Given the description of an element on the screen output the (x, y) to click on. 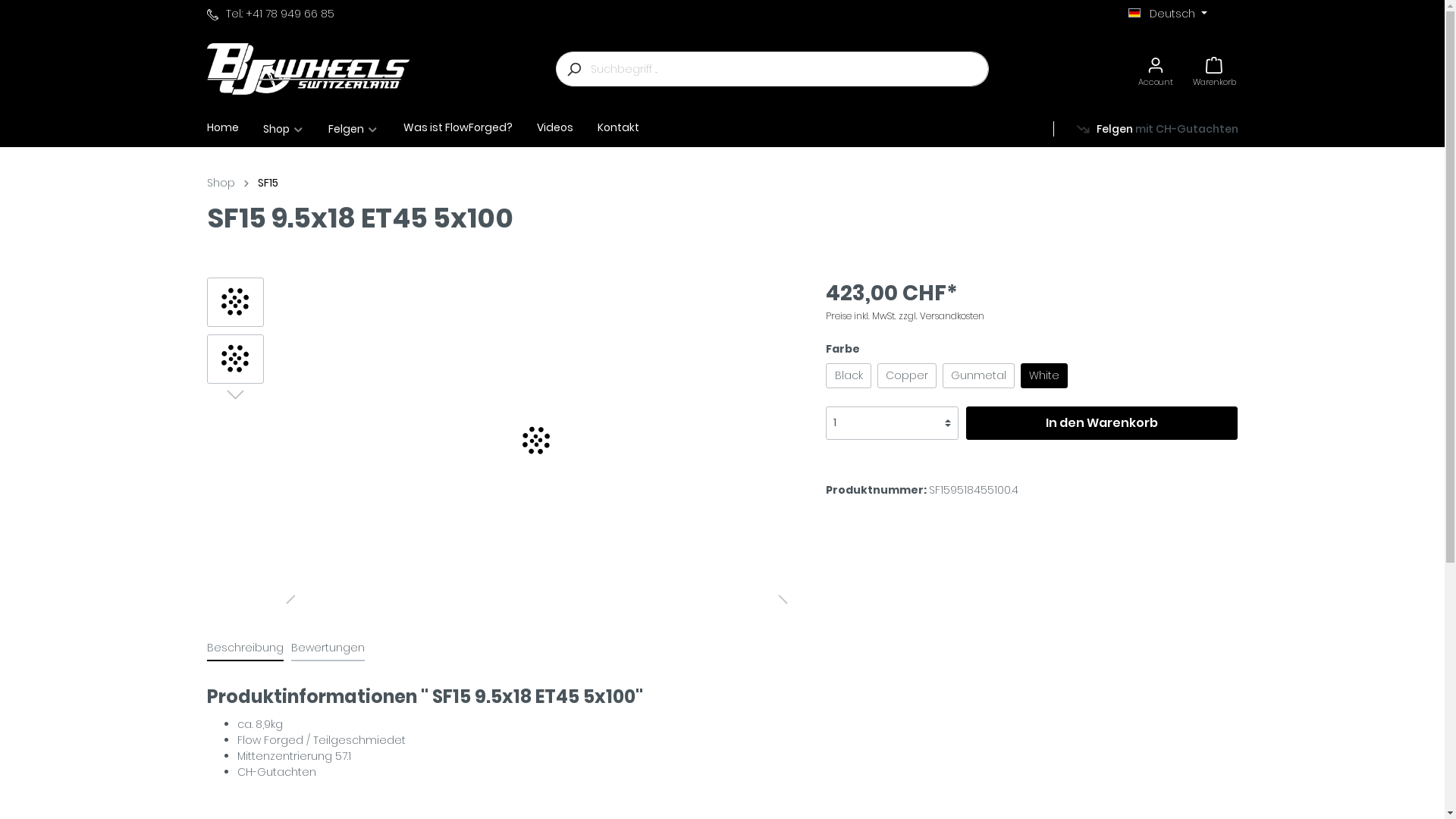
Was ist FlowForged? Element type: text (469, 127)
Account Element type: text (1155, 69)
In den Warenkorb Element type: text (1102, 422)
Kontakt Element type: text (630, 127)
 SF15 9.5x18 ET45 5x100 Element type: hover (235, 358)
Warenkorb Element type: text (1214, 69)
Home Element type: text (234, 128)
Tel.: +41 78 949 66 85 Element type: text (269, 13)
SF15 Element type: text (267, 183)
Shop Element type: text (220, 183)
Zur Startseite wechseln Element type: hover (307, 67)
Beschreibung Element type: text (244, 647)
 SF15 9.5x18 ET45 5x100 Element type: hover (235, 301)
Preise inkl. MwSt. zzgl. Versandkosten Element type: text (904, 315)
Deutsch Element type: text (1167, 13)
Bewertungen Element type: text (327, 647)
Videos Element type: text (566, 127)
 SF15 9.5x18 ET45 5x100 Element type: hover (537, 440)
Shop Element type: text (295, 128)
